Given the description of an element on the screen output the (x, y) to click on. 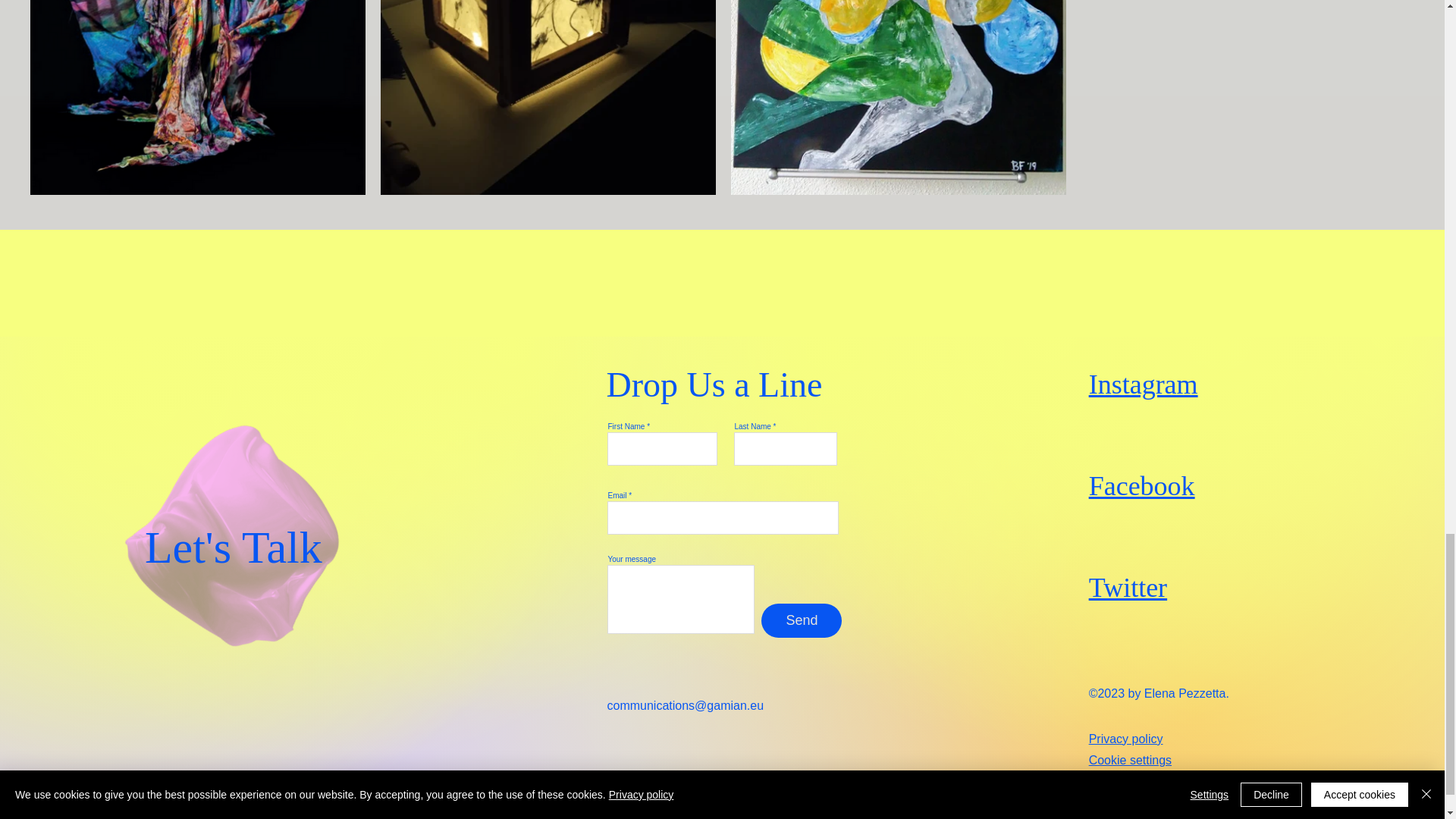
Instagram (1143, 384)
Facebook (1142, 485)
Send (801, 620)
Twitter (1128, 587)
